Given the description of an element on the screen output the (x, y) to click on. 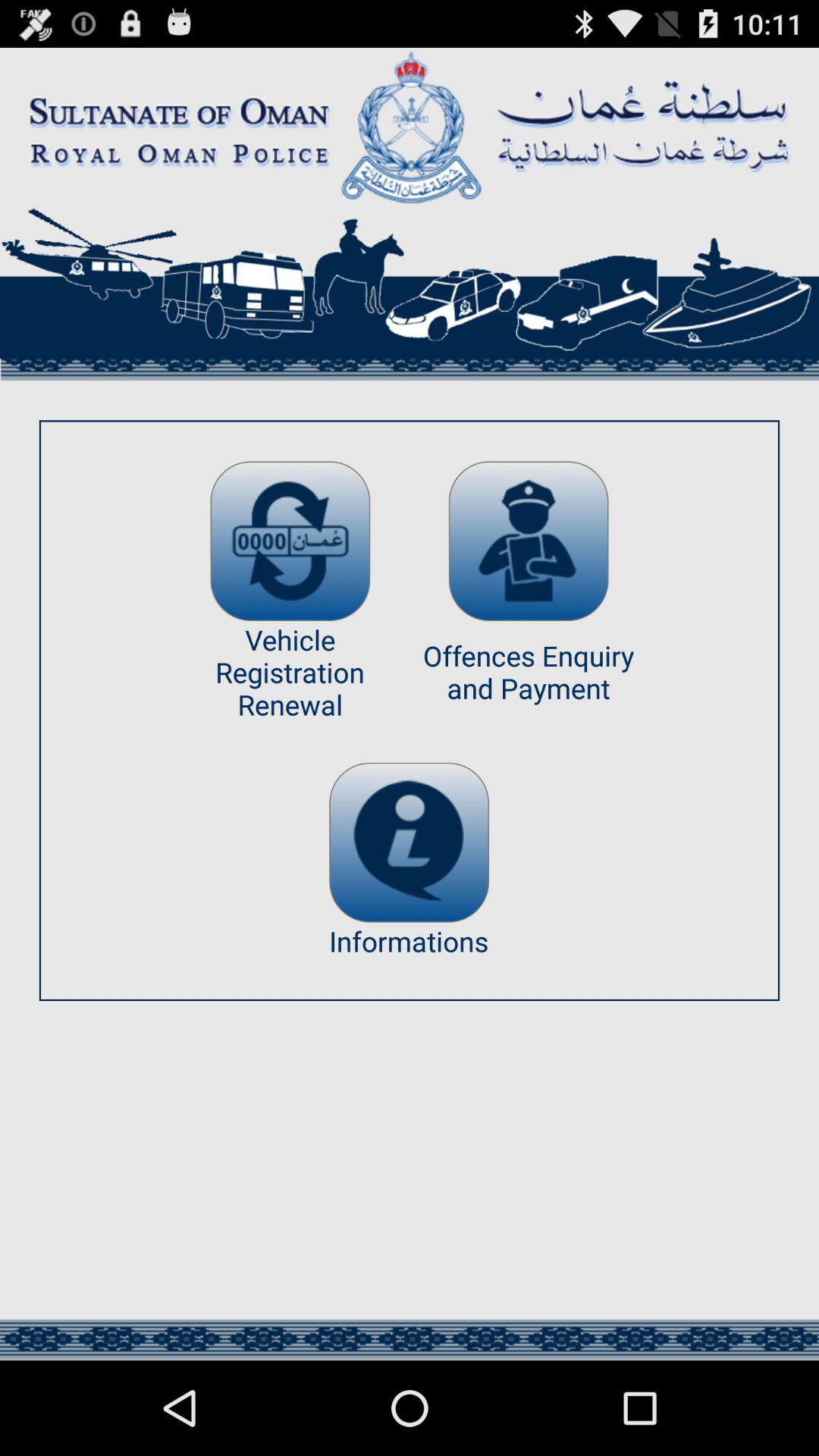
launch the icon above offences enquiry and item (528, 541)
